Given the description of an element on the screen output the (x, y) to click on. 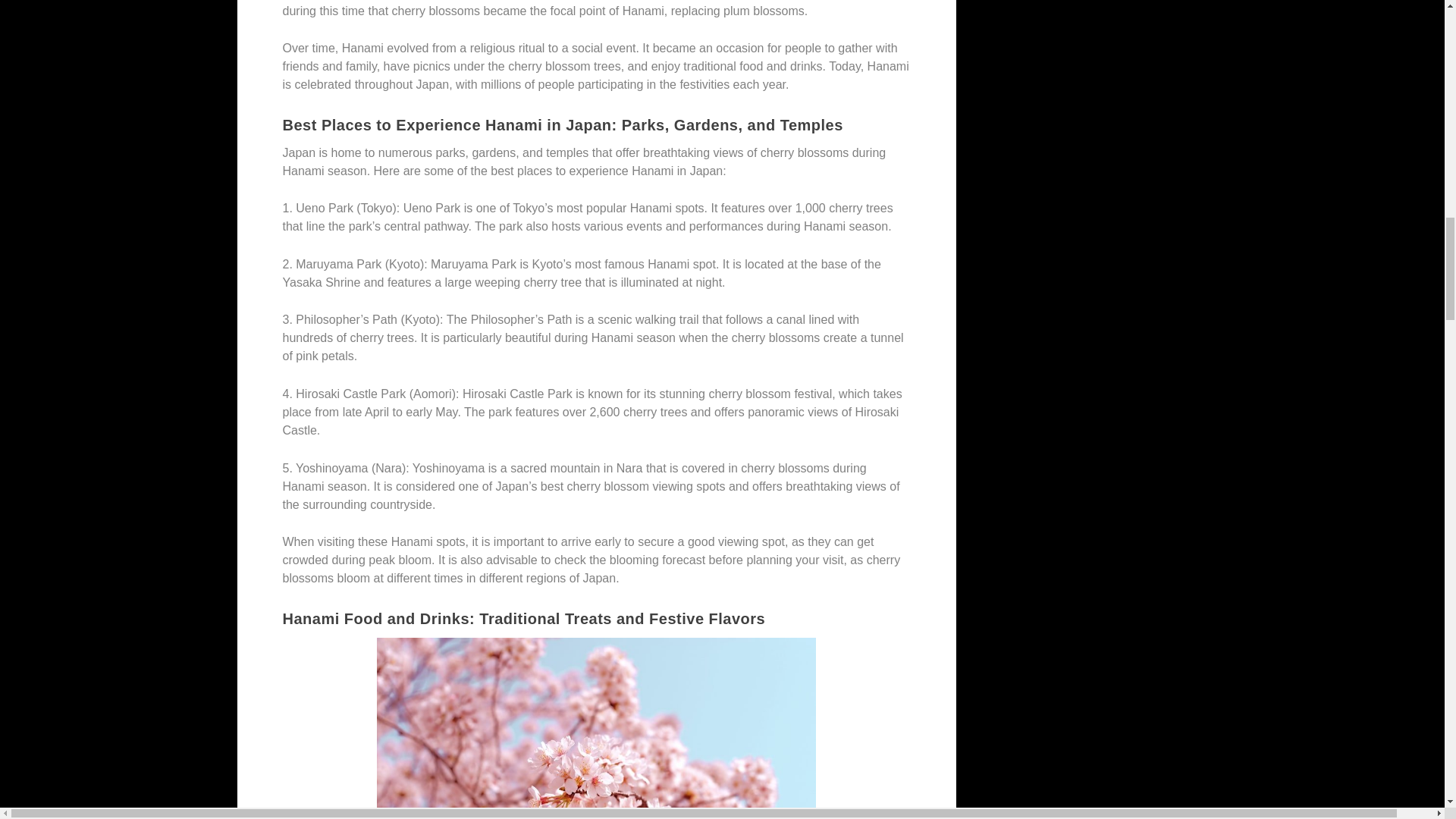
What is hanami in Japanese? 1 (596, 728)
